Given the description of an element on the screen output the (x, y) to click on. 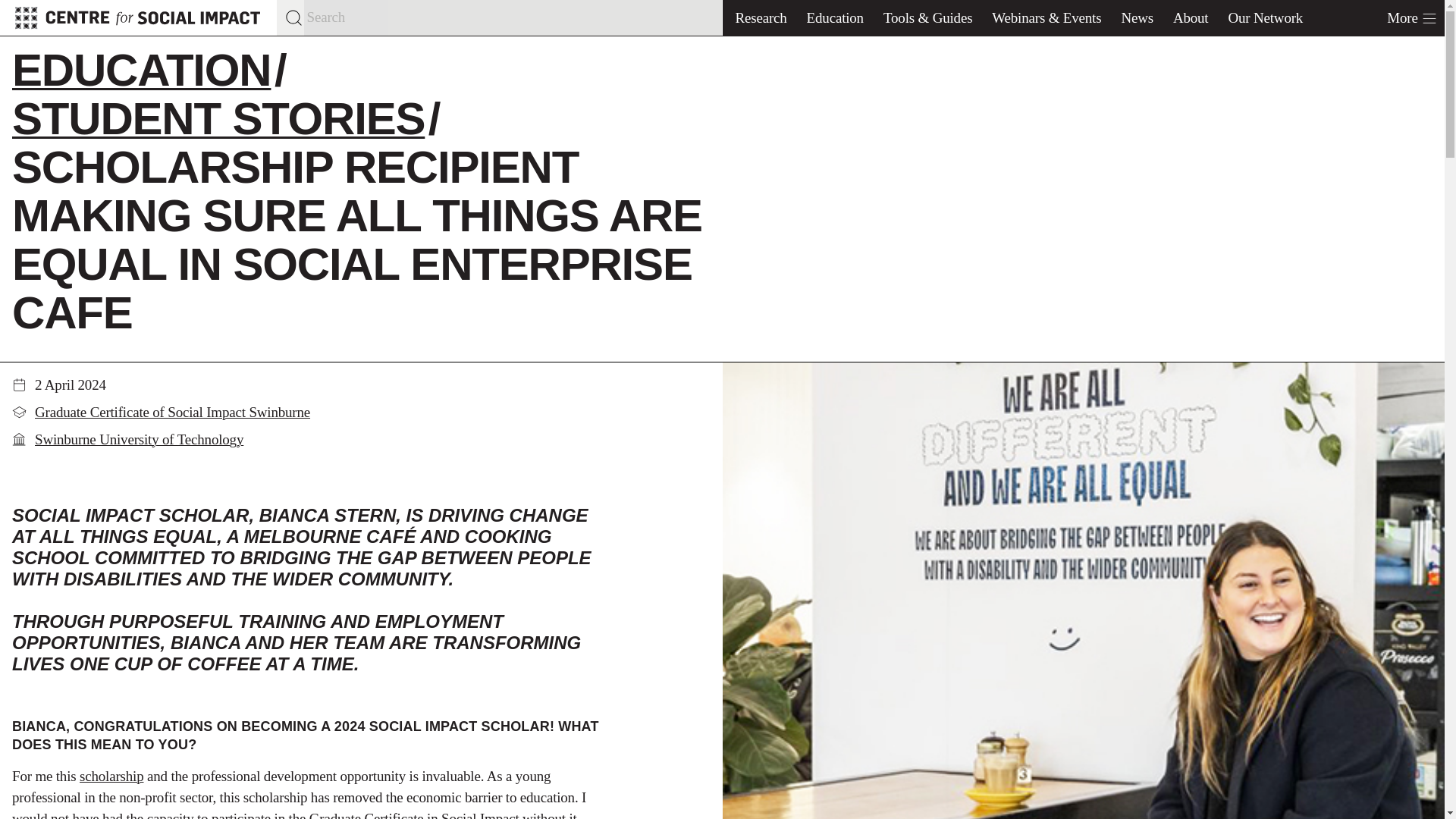
scholarship (111, 775)
Go to Education (140, 70)
Research (760, 18)
EDUCATION (140, 70)
Graduate Certificate of Social Impact Swinburne (172, 412)
News (1136, 18)
Go to Student stories (218, 118)
STUDENT STORIES (218, 118)
Graduate Certificate in Social Impact (413, 814)
About (1190, 18)
Education (834, 18)
Our Network (1265, 18)
Swinburne University of Technology (138, 439)
